Given the description of an element on the screen output the (x, y) to click on. 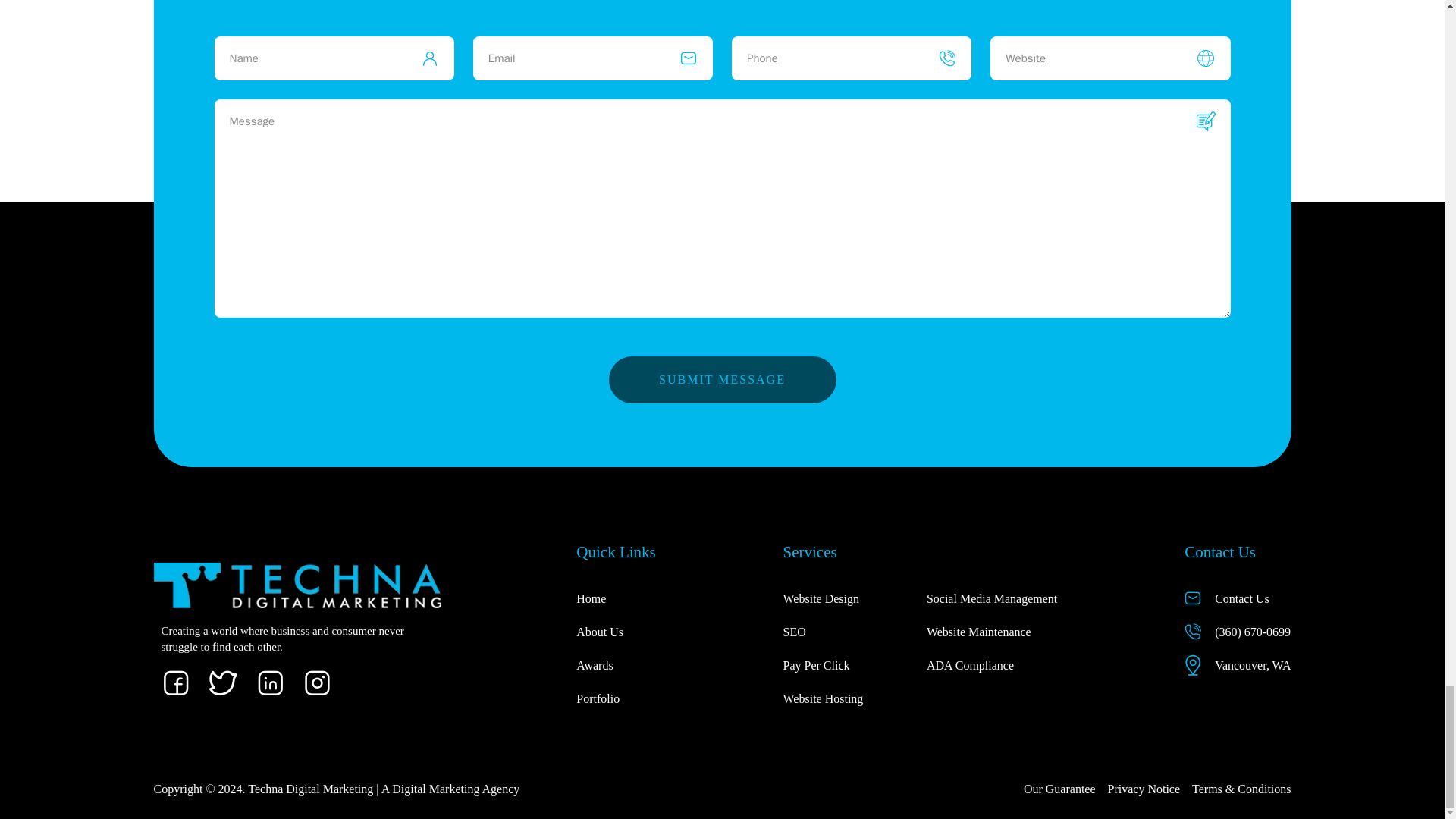
Twitter (222, 682)
Linkedin (269, 682)
Techna Digital Marketing (300, 585)
Instagram (316, 682)
Facebook (174, 682)
Submit Message (721, 379)
